Given the description of an element on the screen output the (x, y) to click on. 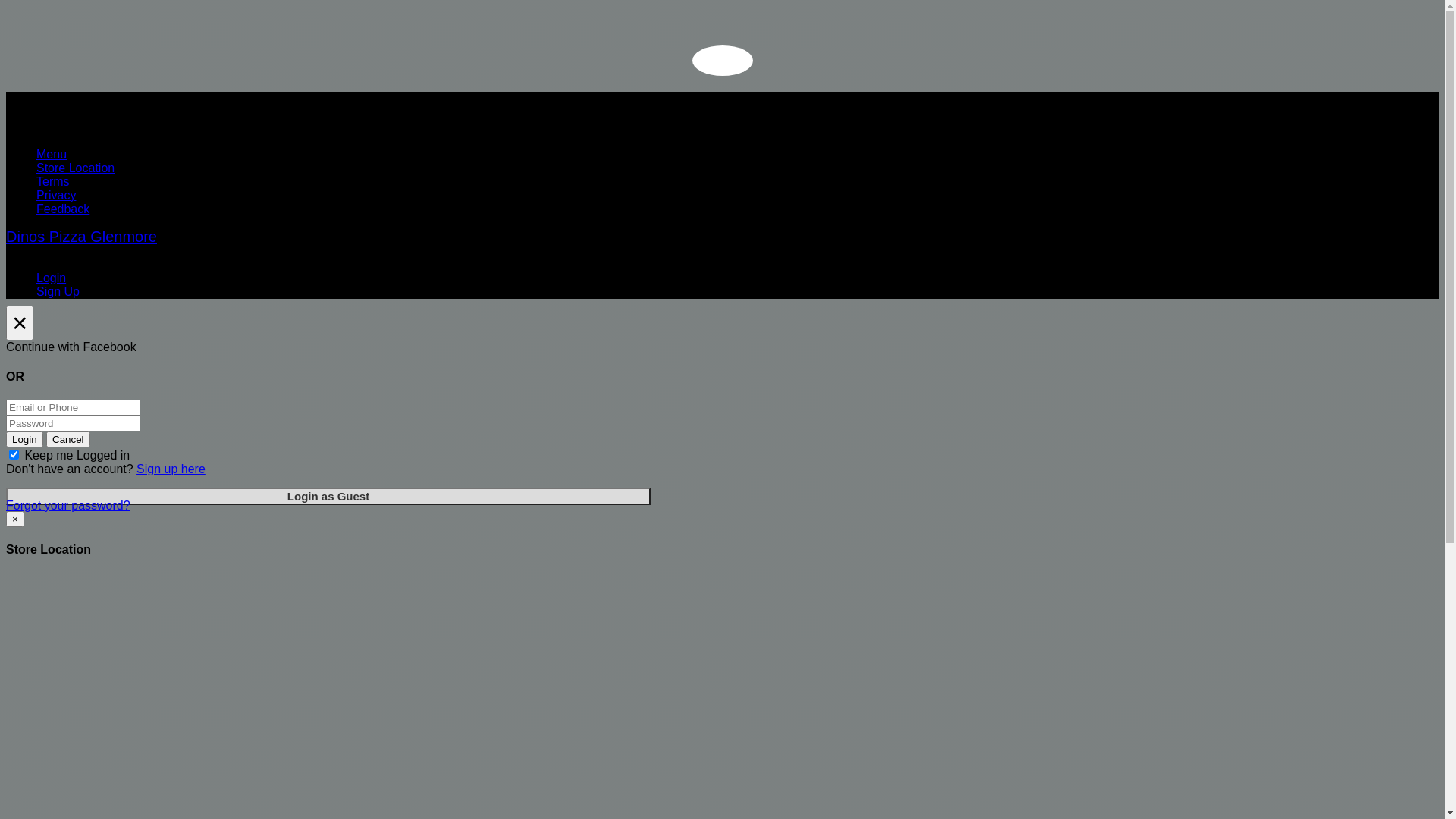
Login as Guest Element type: text (328, 496)
Privacy Element type: text (55, 194)
Login Element type: text (50, 277)
Login as Guest Element type: text (328, 495)
Forgot your password? Element type: text (68, 504)
Sign up here Element type: text (170, 468)
Dinos Pizza Glenmore Element type: text (81, 236)
Menu Element type: text (51, 153)
Continue with Facebook Element type: text (722, 347)
Cancel Element type: text (68, 439)
Feedback Element type: text (62, 208)
Login Element type: text (24, 439)
Terms Element type: text (52, 181)
Store Location Element type: text (75, 167)
Sign Up Element type: text (57, 291)
